Given the description of an element on the screen output the (x, y) to click on. 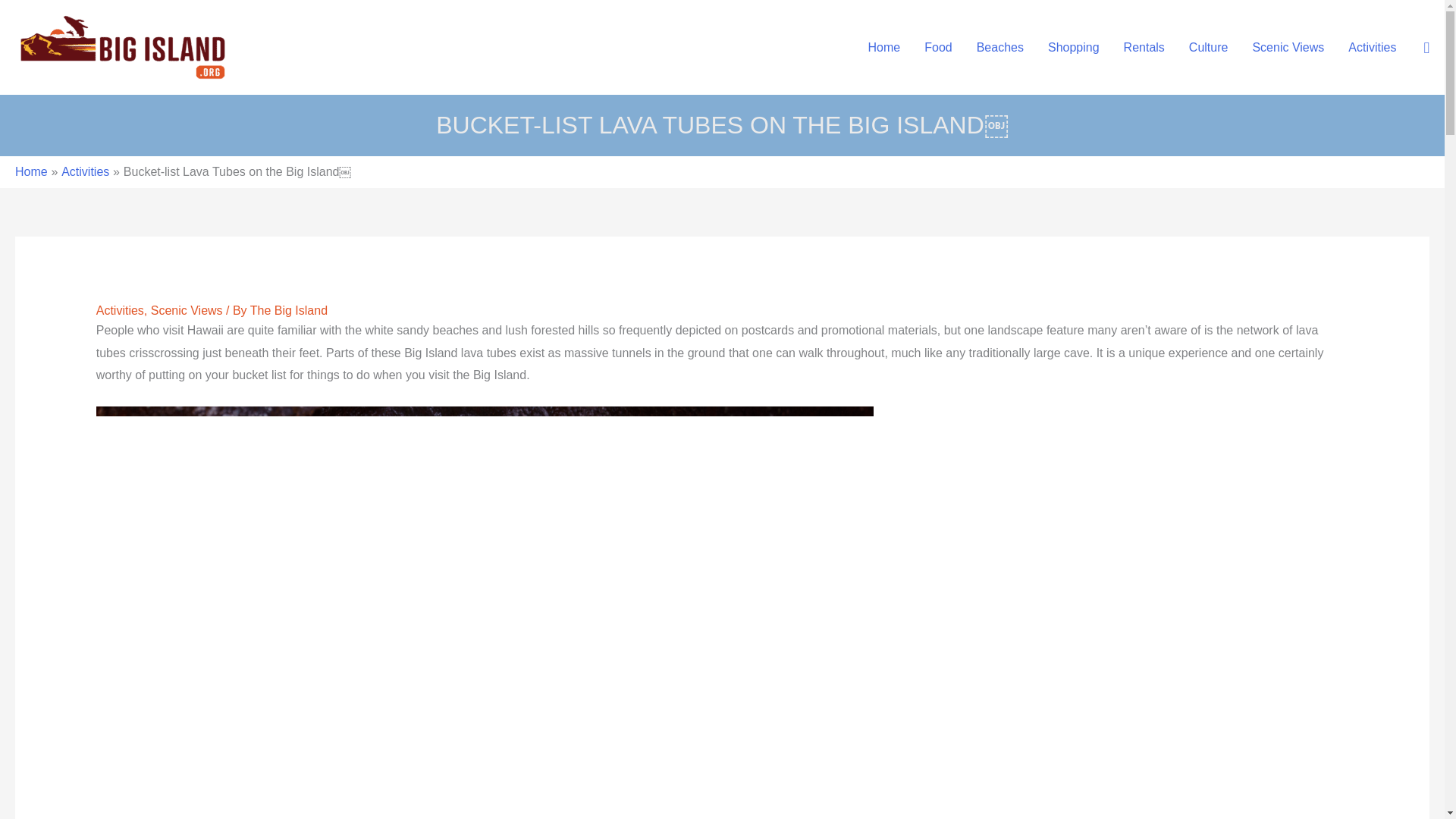
The Big Island (288, 309)
Activities (85, 171)
Activities (120, 309)
Rentals (1144, 47)
Beaches (999, 47)
Culture (1208, 47)
Shopping (1073, 47)
Activities (1371, 47)
Home (31, 171)
Food (937, 47)
Scenic Views (1288, 47)
Scenic Views (186, 309)
Home (884, 47)
View all posts by The Big Island (288, 309)
